Given the description of an element on the screen output the (x, y) to click on. 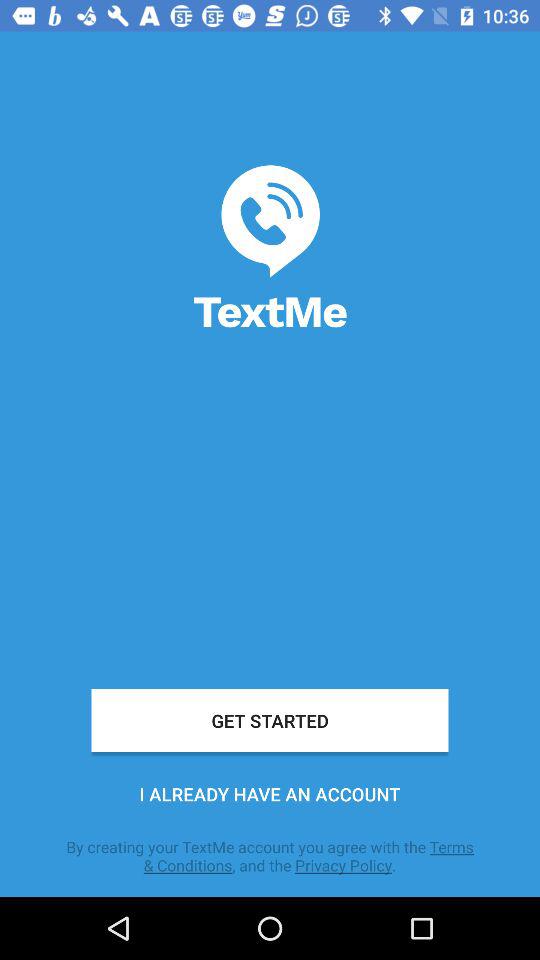
flip until get started item (269, 720)
